Given the description of an element on the screen output the (x, y) to click on. 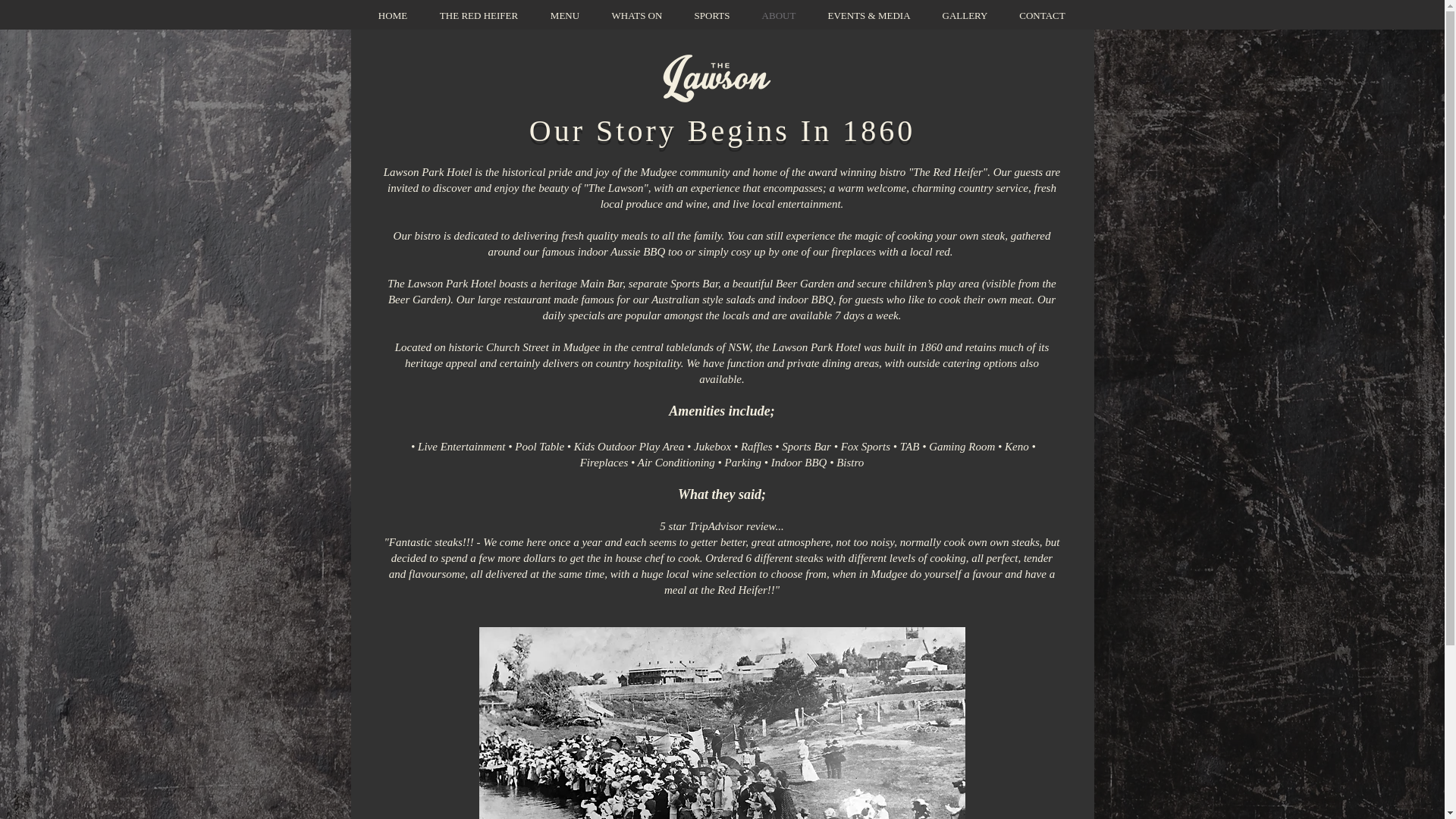
EVENTS & MEDIA Element type: text (868, 15)
GALLERY Element type: text (965, 15)
ABOUT Element type: text (779, 15)
THE RED HEIFER Element type: text (478, 15)
CONTACT Element type: text (1042, 15)
WHATS ON Element type: text (637, 15)
HOME Element type: text (392, 15)
SPORTS Element type: text (711, 15)
MENU Element type: text (564, 15)
